Given the description of an element on the screen output the (x, y) to click on. 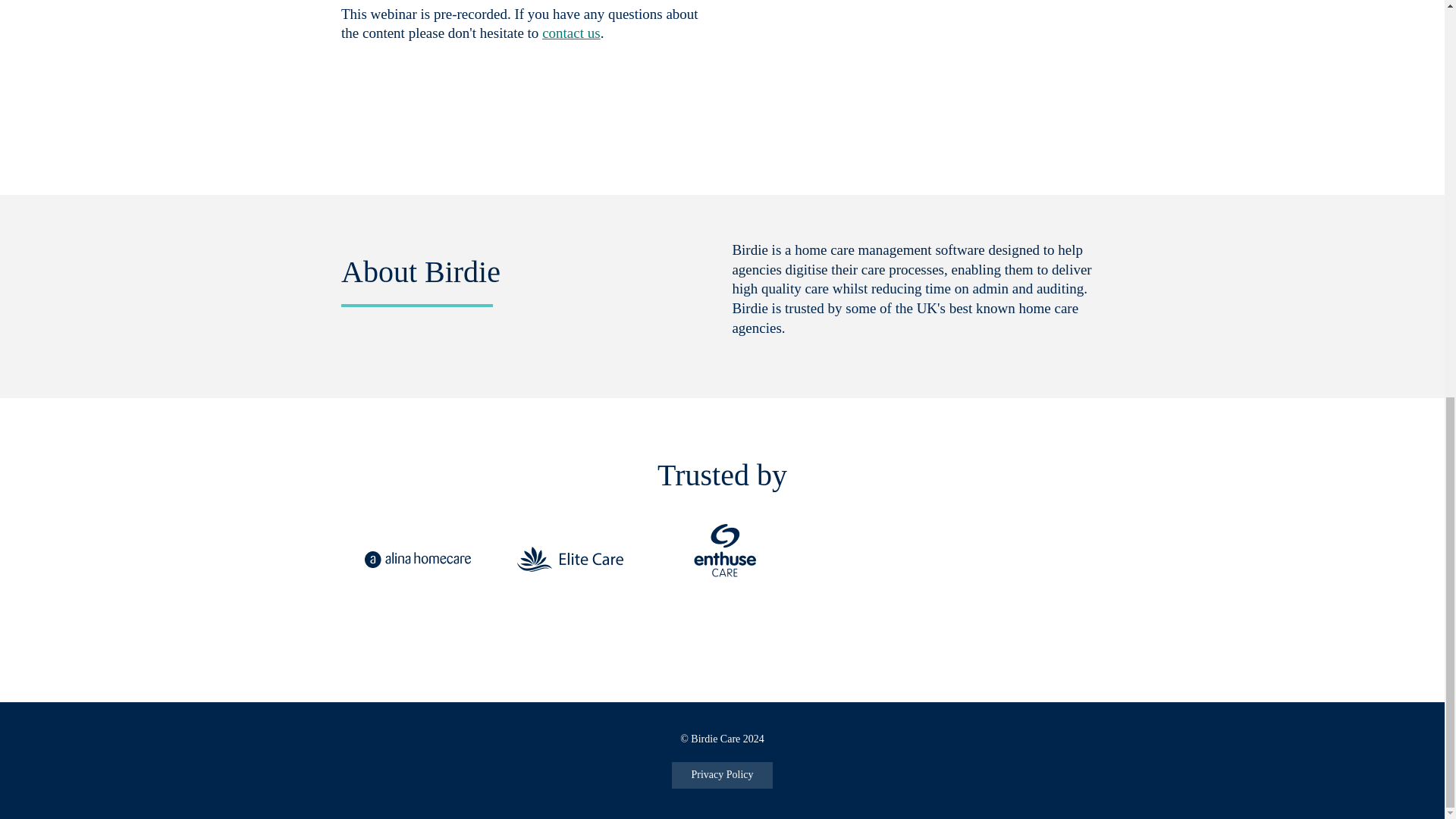
contact us (570, 33)
Enthuse Care (721, 560)
Elite (569, 560)
Privacy Policy (721, 775)
Alina Care (417, 560)
